Given the description of an element on the screen output the (x, y) to click on. 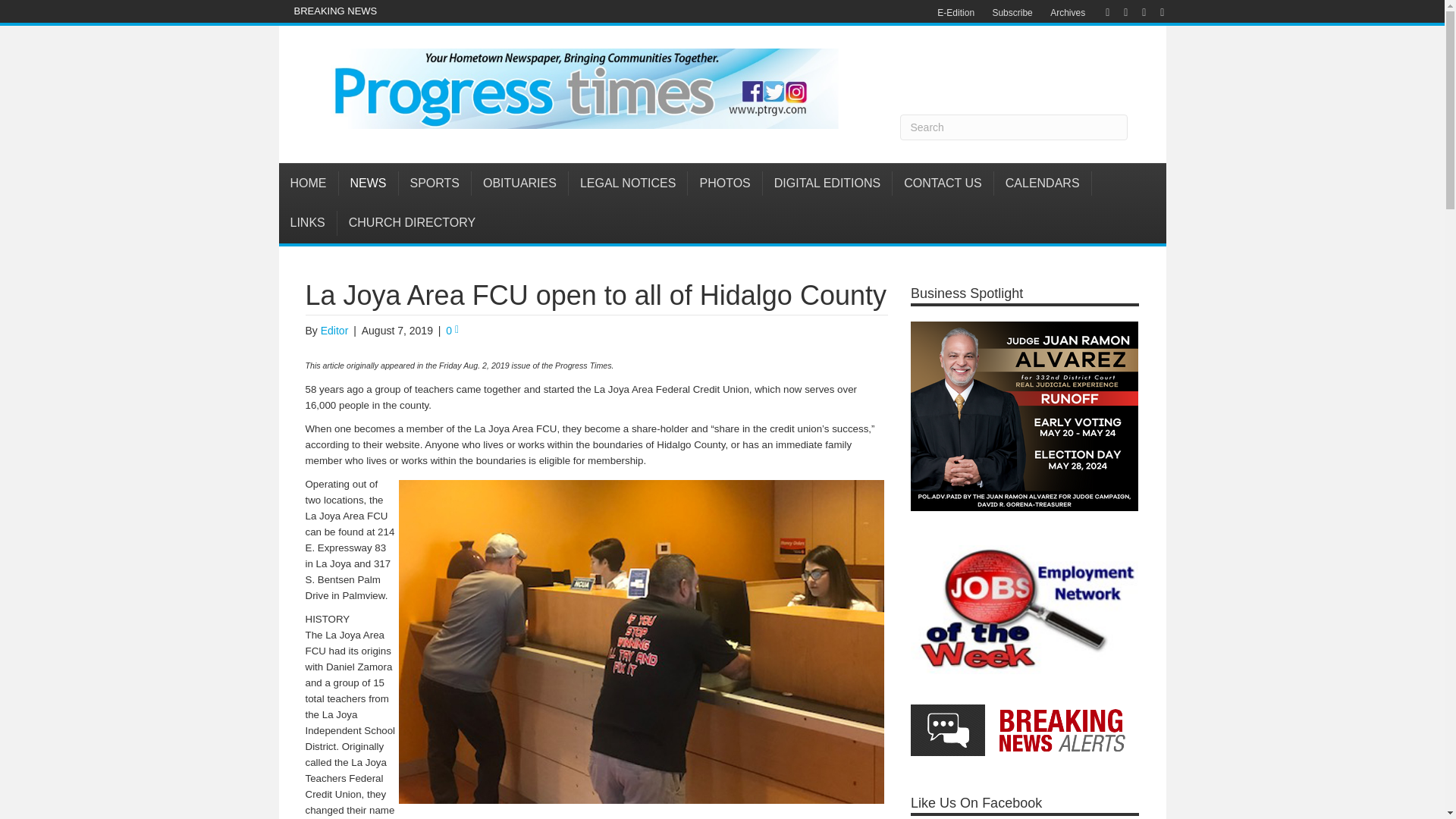
Type and press Enter to search. (1012, 127)
HOME (309, 183)
Archives (1067, 13)
Instagram (1135, 11)
SPORTS (434, 183)
Email (1154, 11)
Facebook (1099, 11)
Subscribe (1011, 13)
Twitter (1117, 11)
E-Edition (955, 13)
NEWS (367, 183)
